Given the description of an element on the screen output the (x, y) to click on. 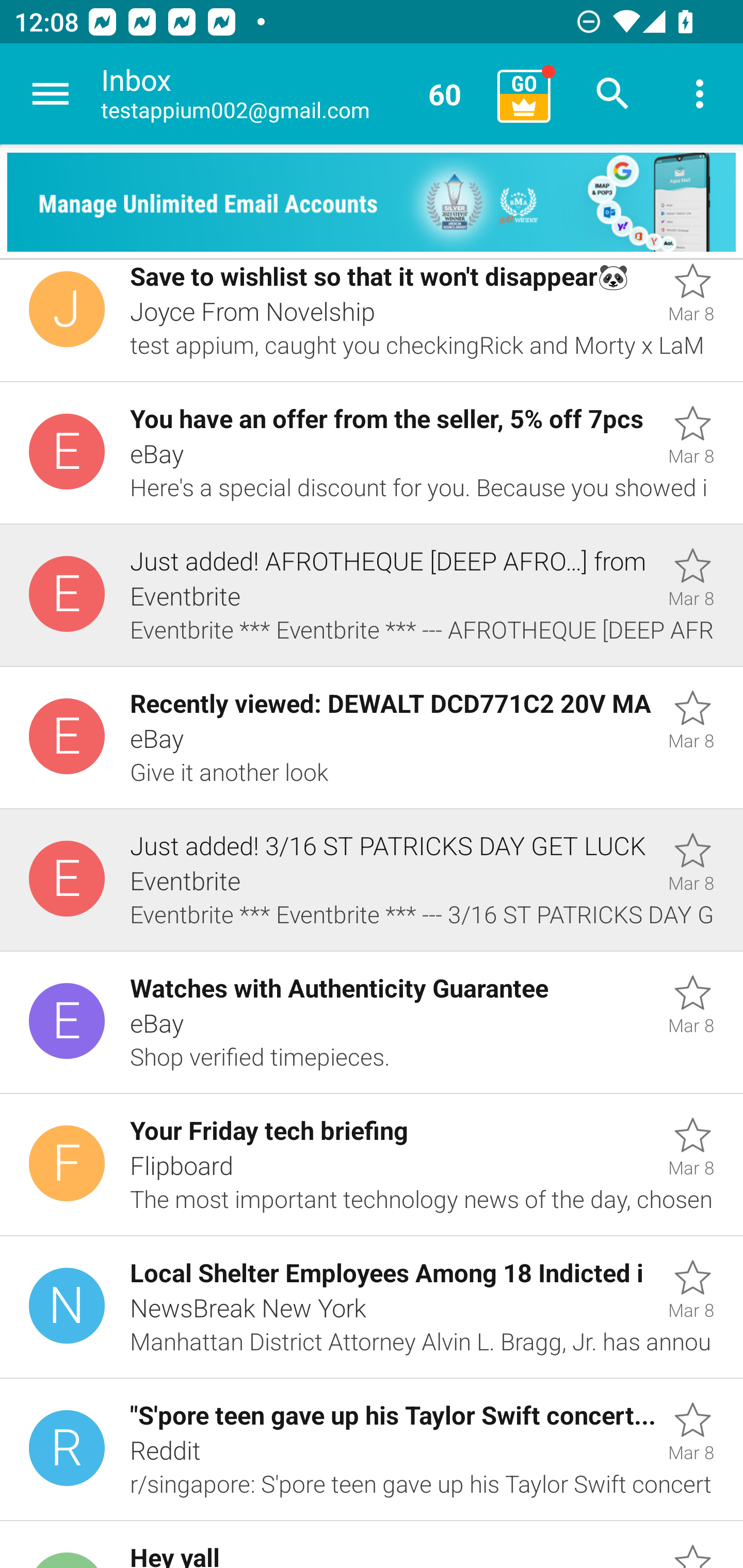
Navigate up (50, 93)
Inbox testappium002@gmail.com 60 (291, 93)
Search (612, 93)
More options (699, 93)
